Given the description of an element on the screen output the (x, y) to click on. 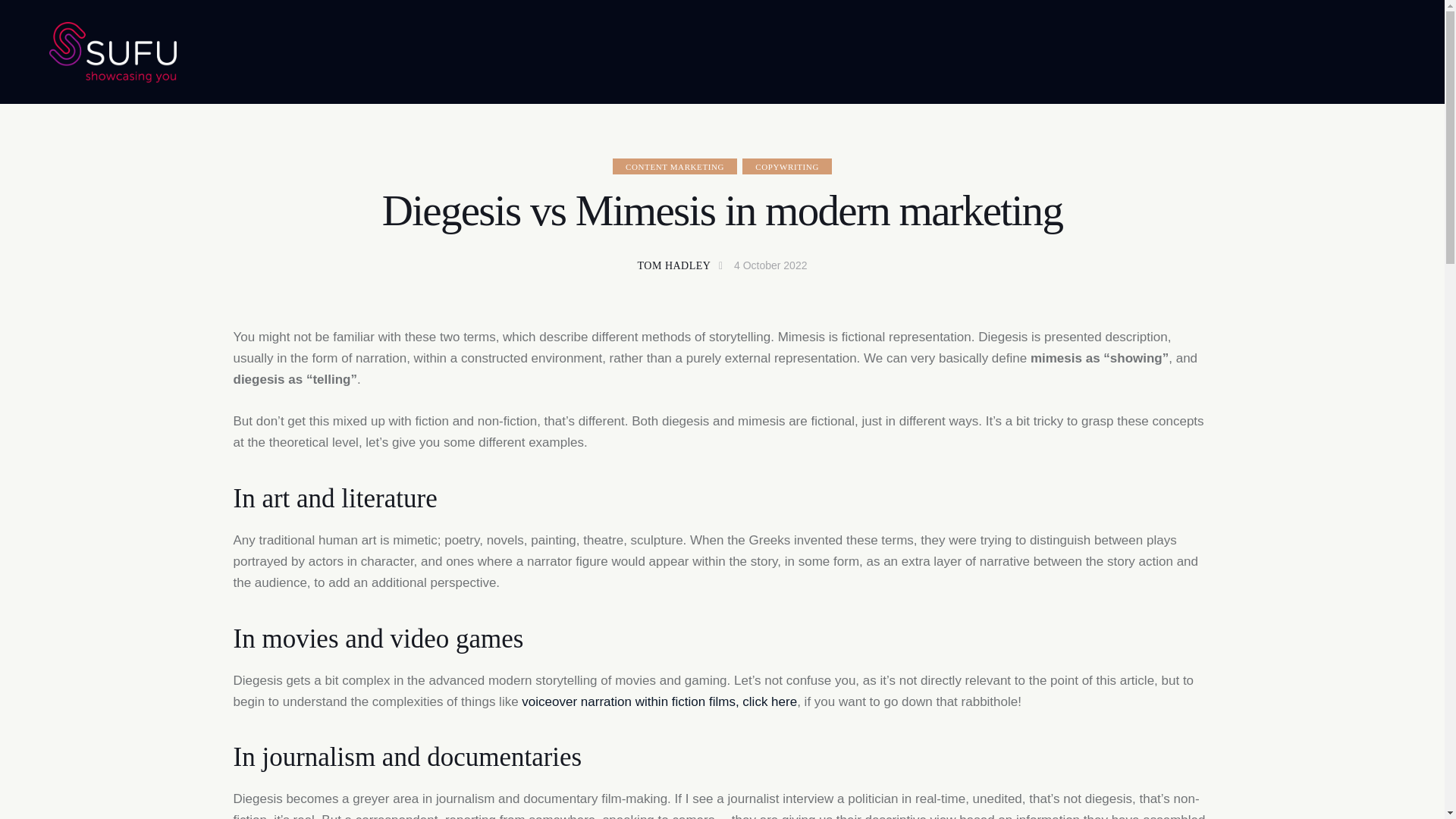
TOM HADLEY (684, 266)
COPYWRITING (786, 166)
CONTENT MARKETING (674, 166)
voiceover narration within fiction films, click here (658, 701)
